Given the description of an element on the screen output the (x, y) to click on. 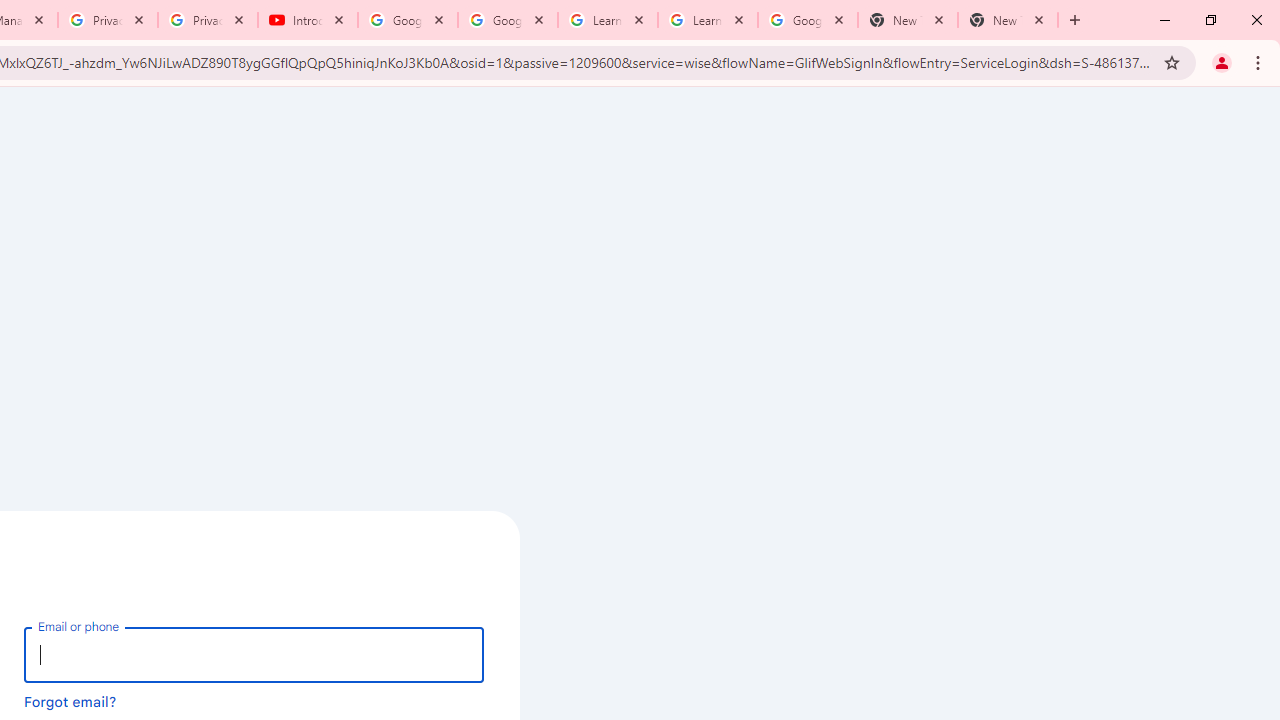
New Tab (907, 20)
Google Account (807, 20)
Email or phone (253, 654)
